Given the description of an element on the screen output the (x, y) to click on. 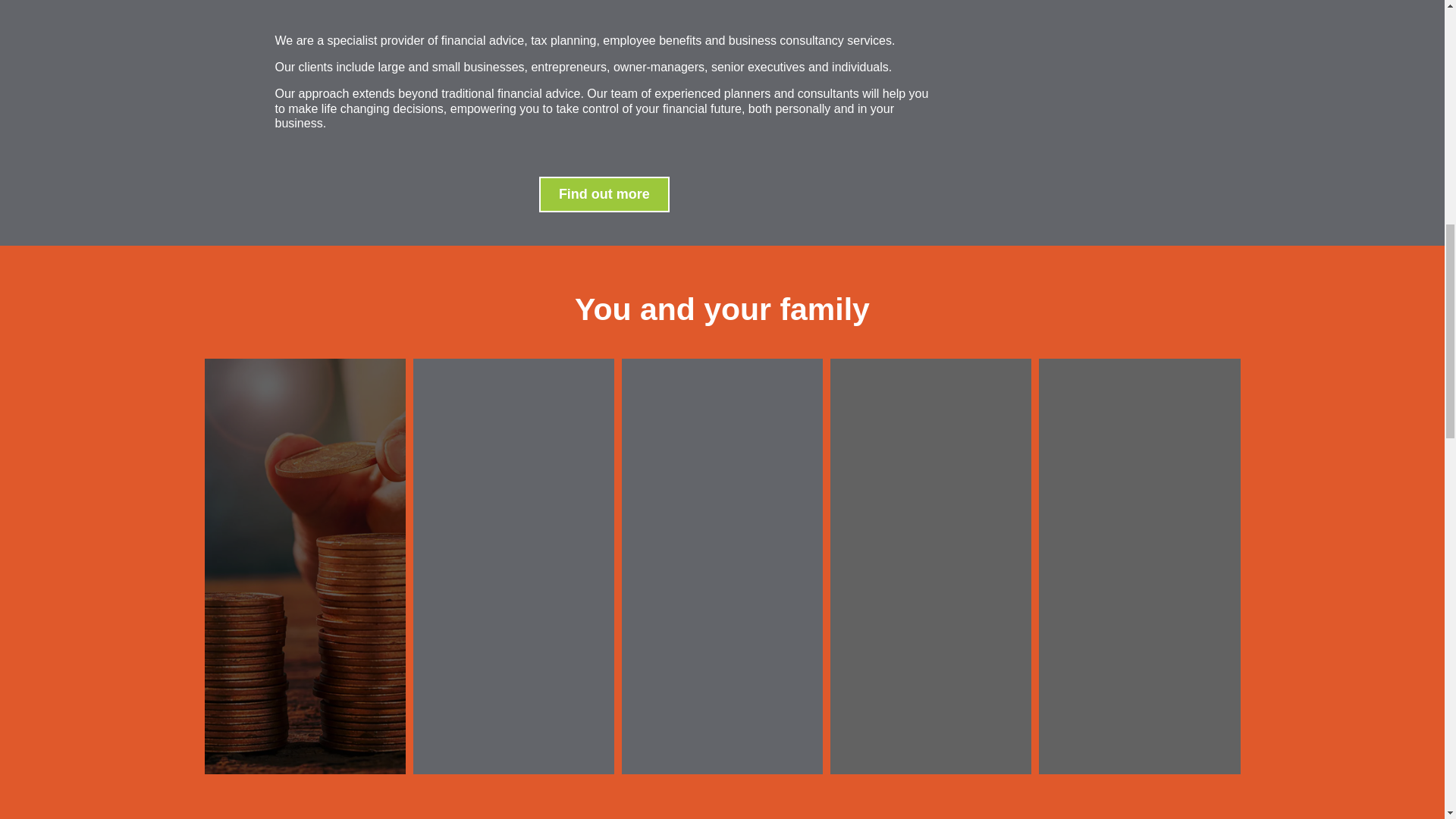
Page 1 (722, 313)
